Given the description of an element on the screen output the (x, y) to click on. 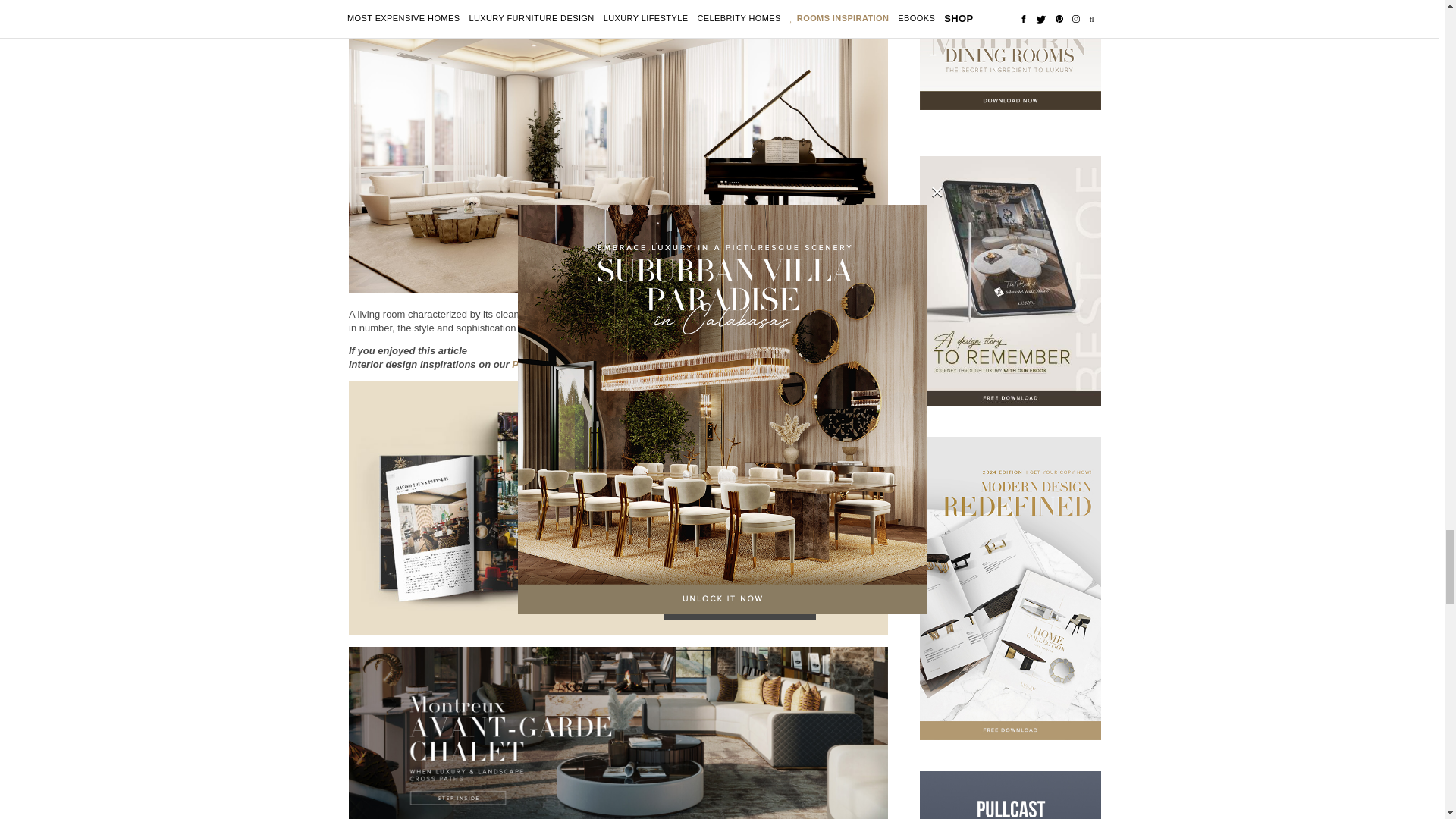
FREE DOWNLOAD (739, 605)
on (630, 569)
